Given the description of an element on the screen output the (x, y) to click on. 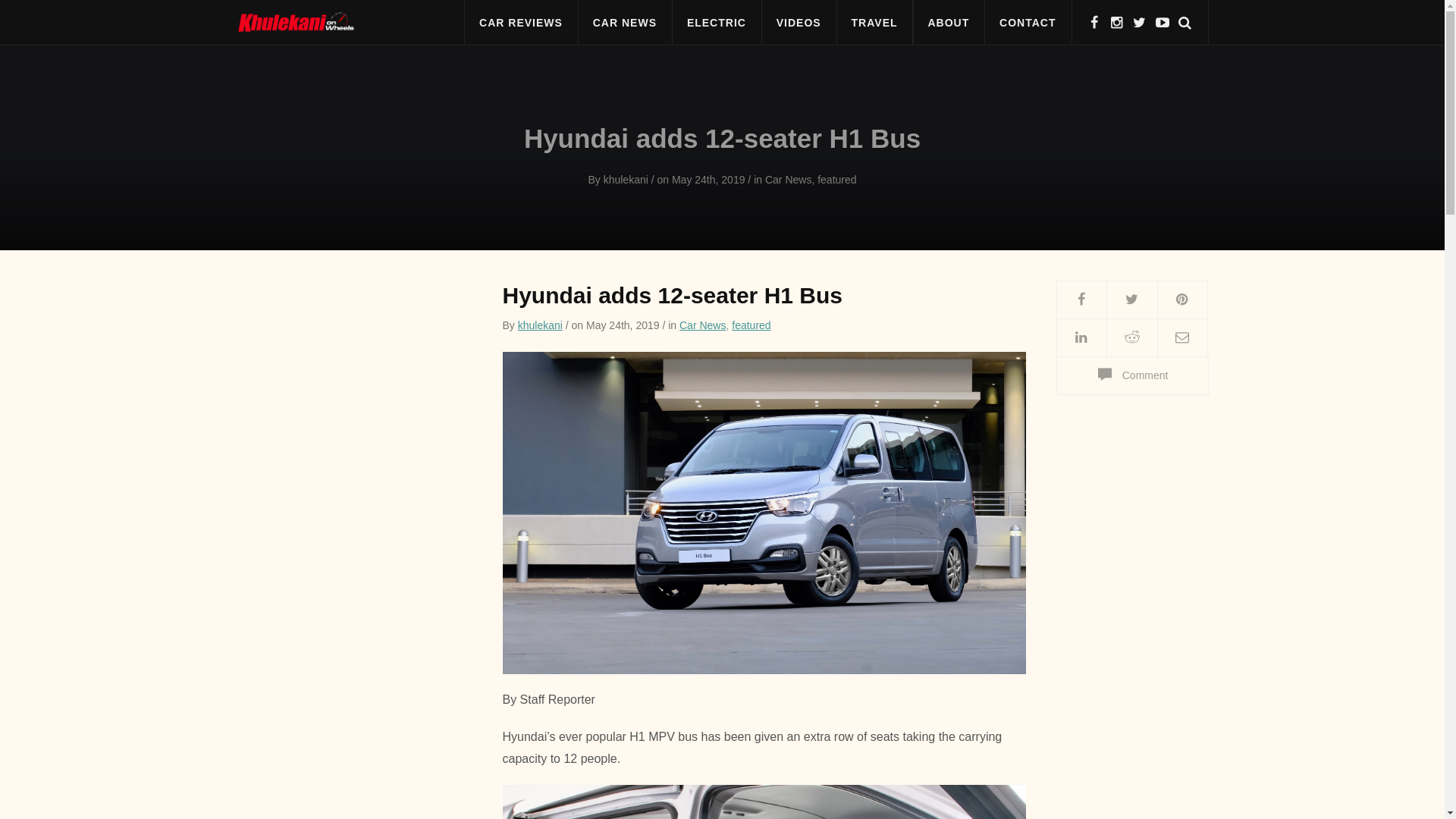
ELECTRIC (716, 22)
CAR REVIEWS (521, 22)
ABOUT (948, 22)
Comment (1131, 374)
featured (751, 325)
khulekani (540, 325)
CAR NEWS (624, 22)
featured (836, 179)
VIDEOS (798, 22)
khulekani (625, 179)
Car News (787, 179)
CONTACT (1027, 22)
TRAVEL (873, 22)
Car News (702, 325)
